Given the description of an element on the screen output the (x, y) to click on. 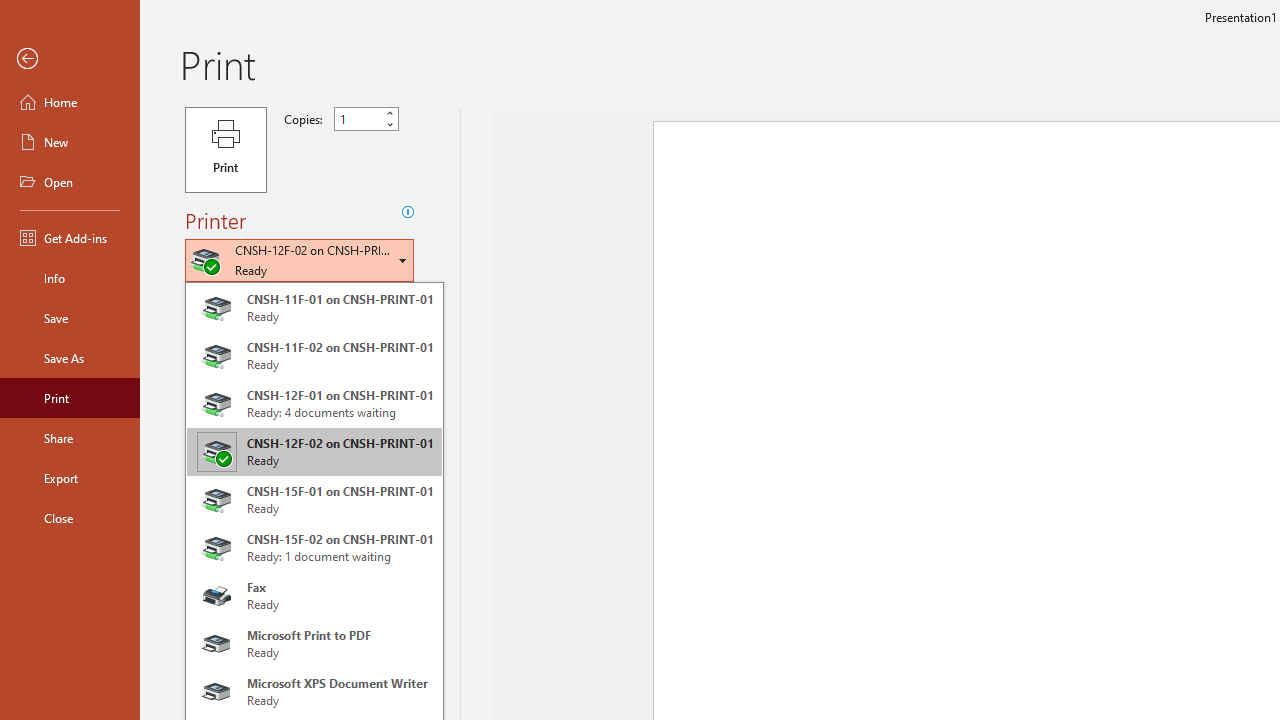
Copies (358, 119)
Which Printer (299, 260)
Info (69, 277)
